Given the description of an element on the screen output the (x, y) to click on. 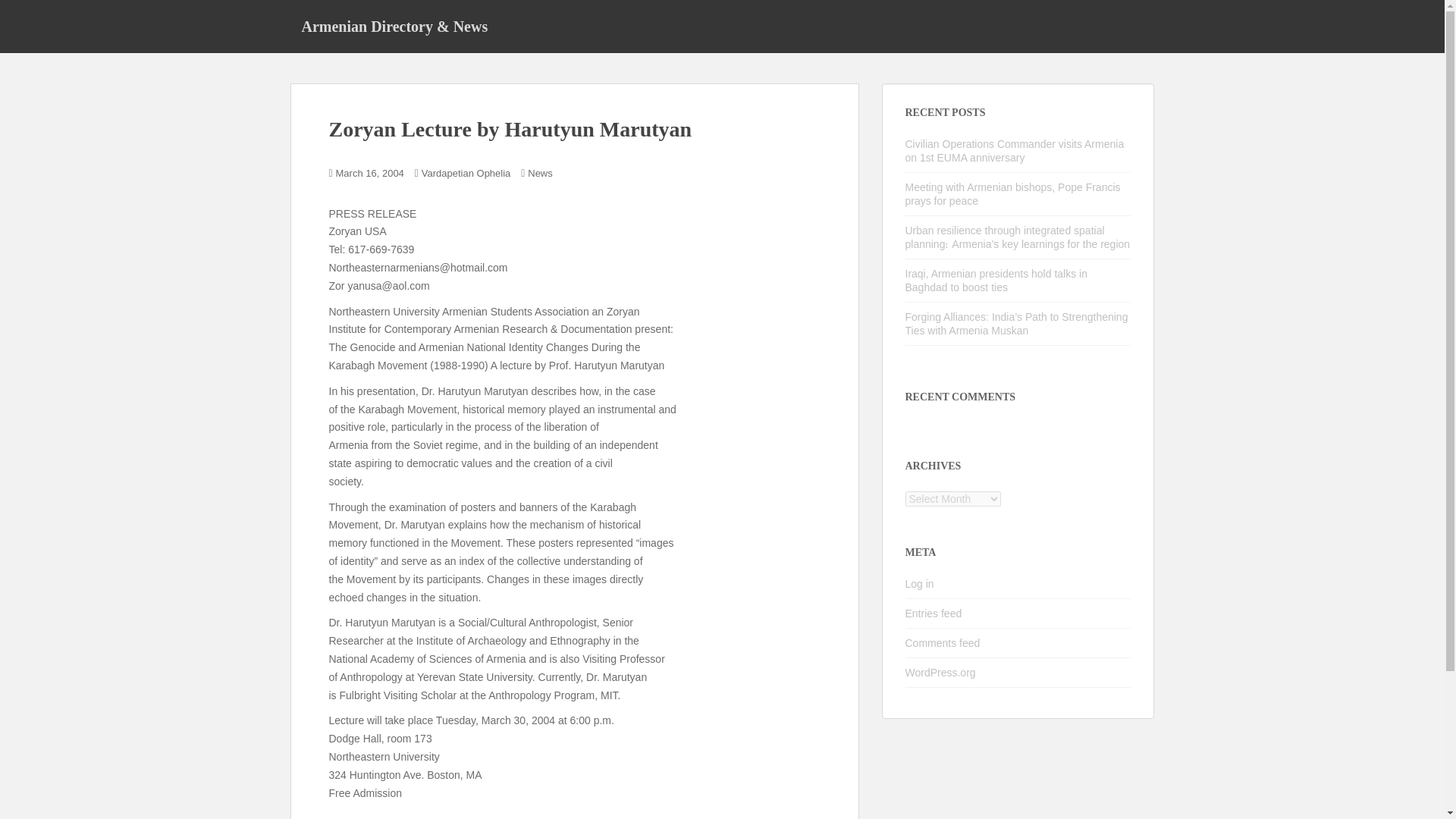
News (540, 173)
Comments feed (942, 643)
WordPress.org (940, 672)
Vardapetian Ophelia (466, 173)
Meeting with Armenian bishops, Pope Francis prays for peace (1013, 193)
Entries feed (933, 613)
March 16, 2004 (370, 173)
Log in (919, 583)
